Given the description of an element on the screen output the (x, y) to click on. 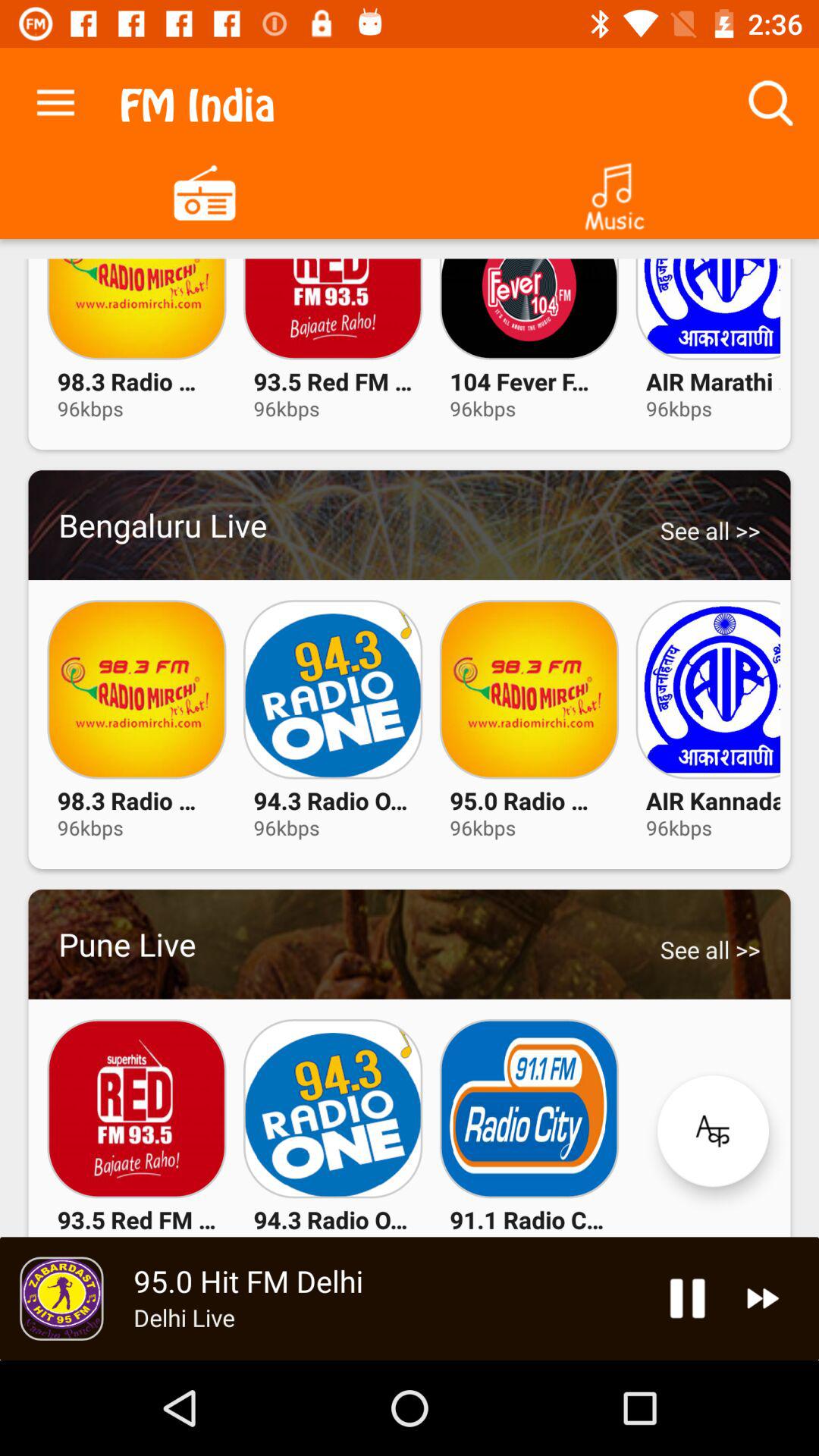
click on the logo above 943 radio o (332, 1108)
click the first button see all on the web page (710, 529)
